Given the description of an element on the screen output the (x, y) to click on. 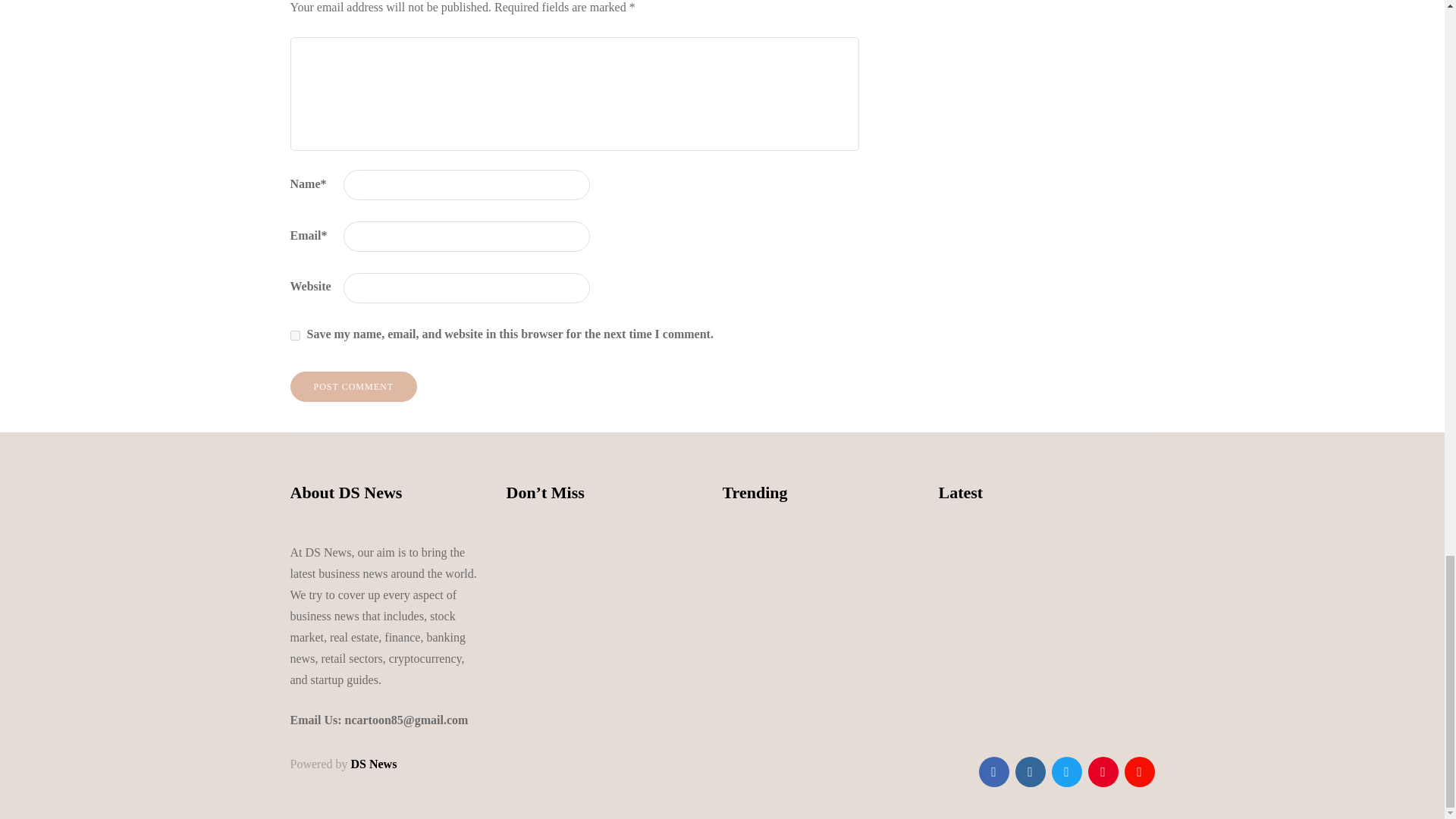
Post comment (352, 386)
yes (294, 335)
